Given the description of an element on the screen output the (x, y) to click on. 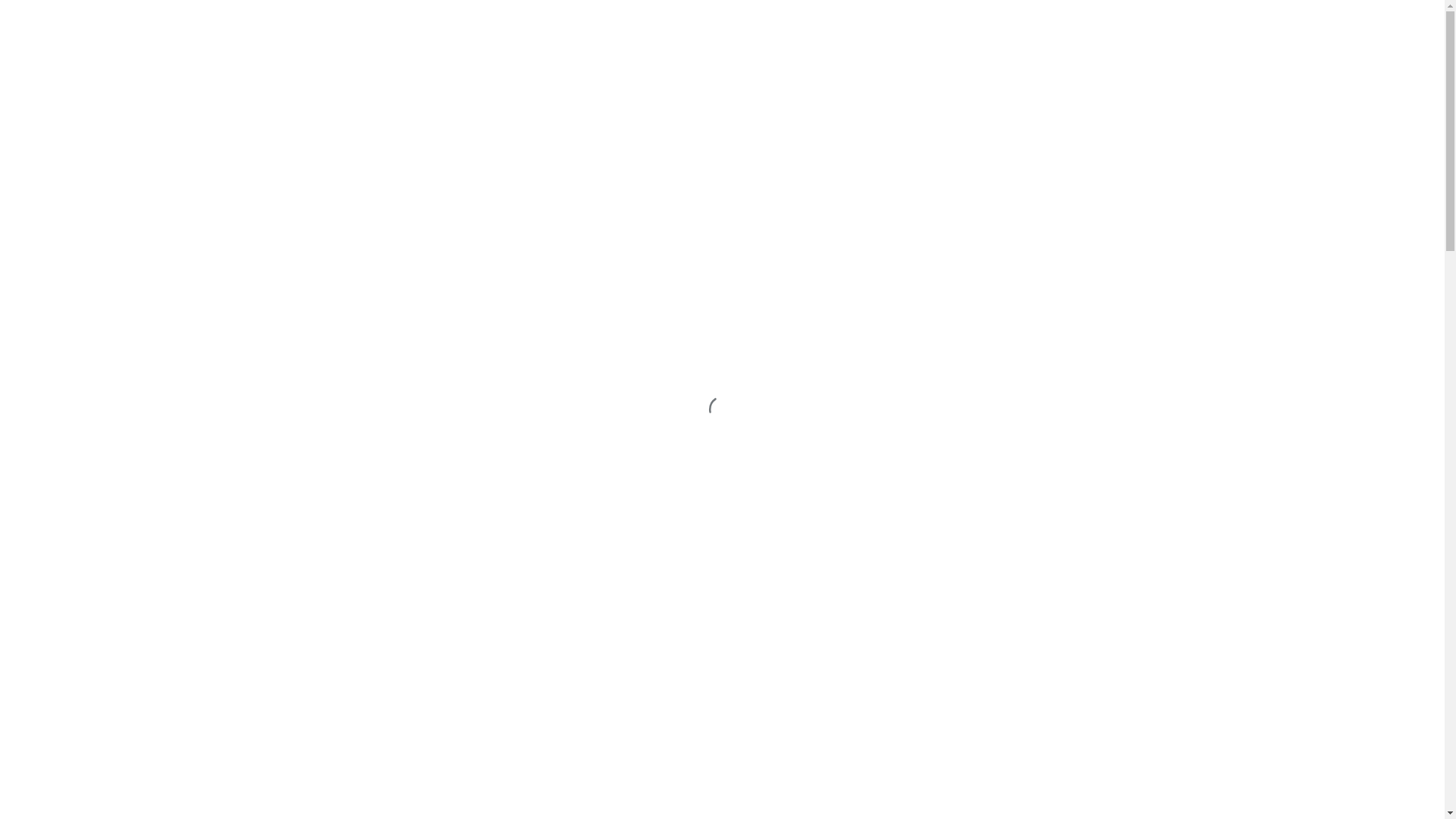
Contact Element type: text (49, 157)
Cart: 0 Element type: text (18, 236)
Shop Mens Element type: text (57, 75)
Embroidery Element type: text (58, 144)
About Element type: text (45, 116)
Shop Custom Element type: text (63, 103)
Shop Womens Element type: text (65, 89)
Login Element type: text (44, 197)
View Cart Element type: text (54, 210)
Technology Element type: text (58, 130)
Corporate Partners Element type: text (75, 183)
Open Menu Element type: text (65, 236)
